Given the description of an element on the screen output the (x, y) to click on. 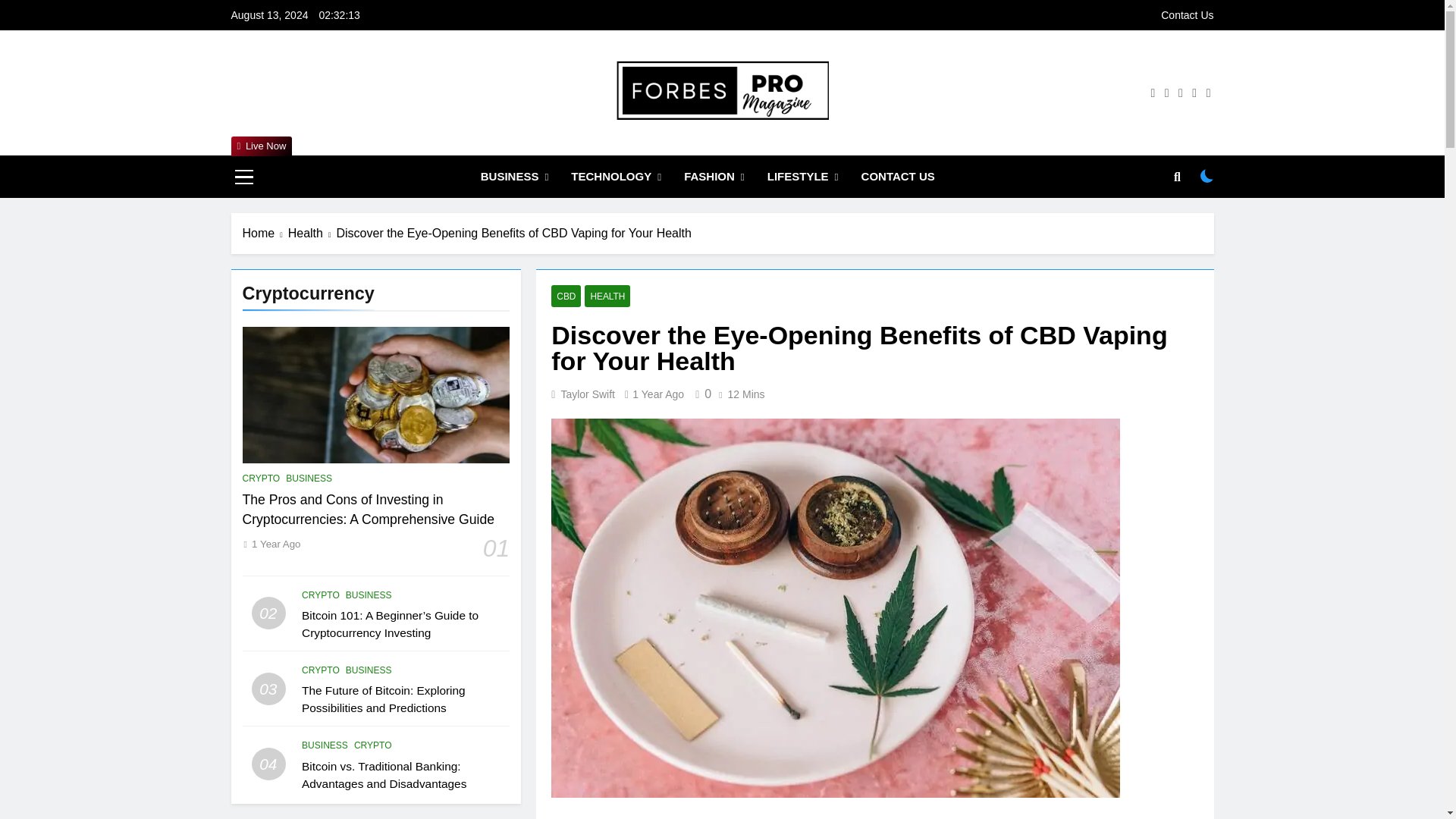
Forbes Pro Magazine (636, 141)
FASHION (713, 177)
TECHNOLOGY (615, 177)
on (1206, 175)
Contact Us (1186, 15)
BUSINESS (514, 177)
